Given the description of an element on the screen output the (x, y) to click on. 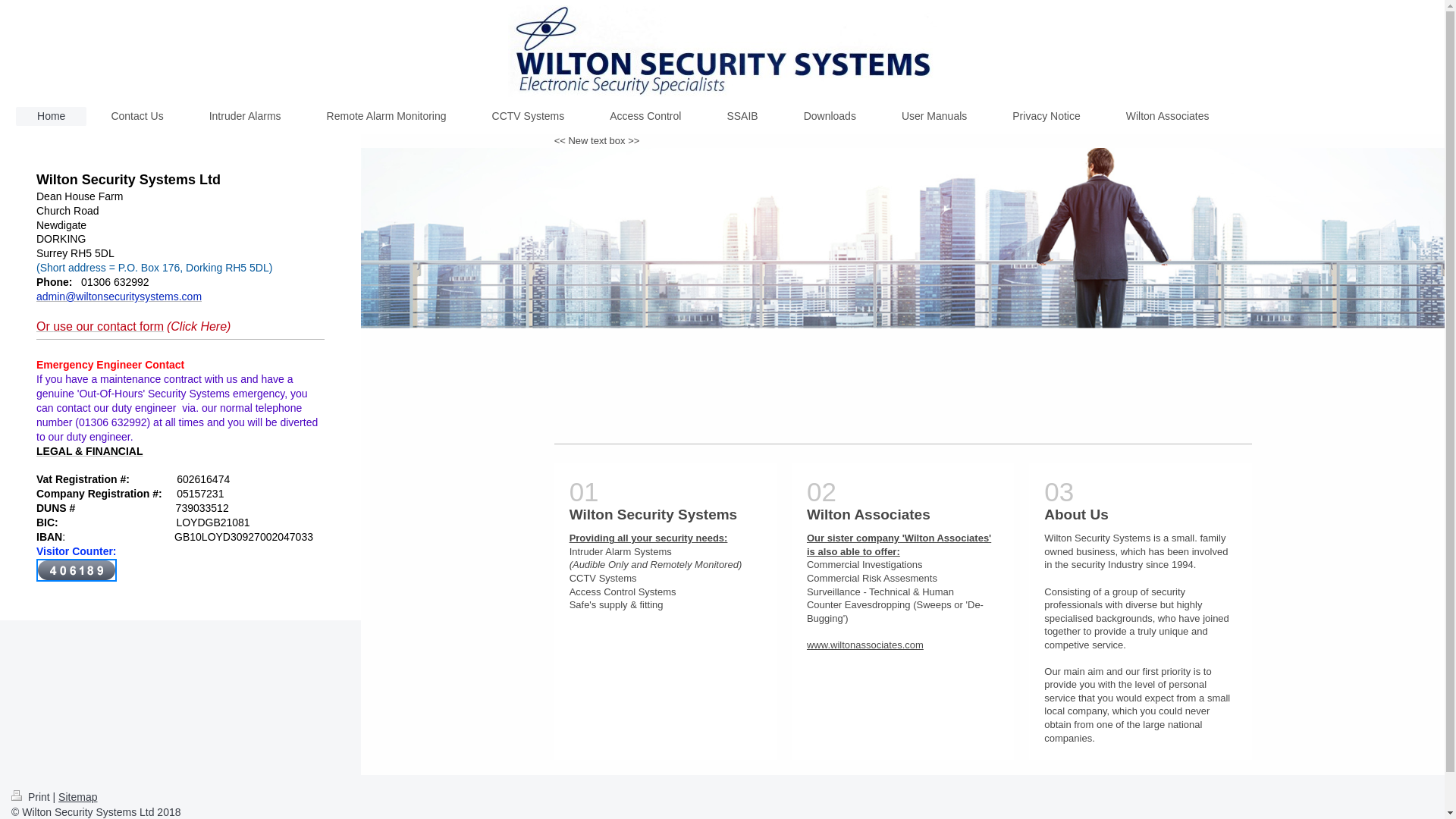
use our contact form (107, 326)
Access Control (644, 116)
Home (50, 116)
Remote Alarm Monitoring (386, 116)
www.wiltonassociates.com (864, 644)
Privacy Notice (1045, 116)
Intruder Alarms (244, 116)
CCTV Systems (528, 116)
User Manuals (934, 116)
Downloads (830, 116)
